Given the description of an element on the screen output the (x, y) to click on. 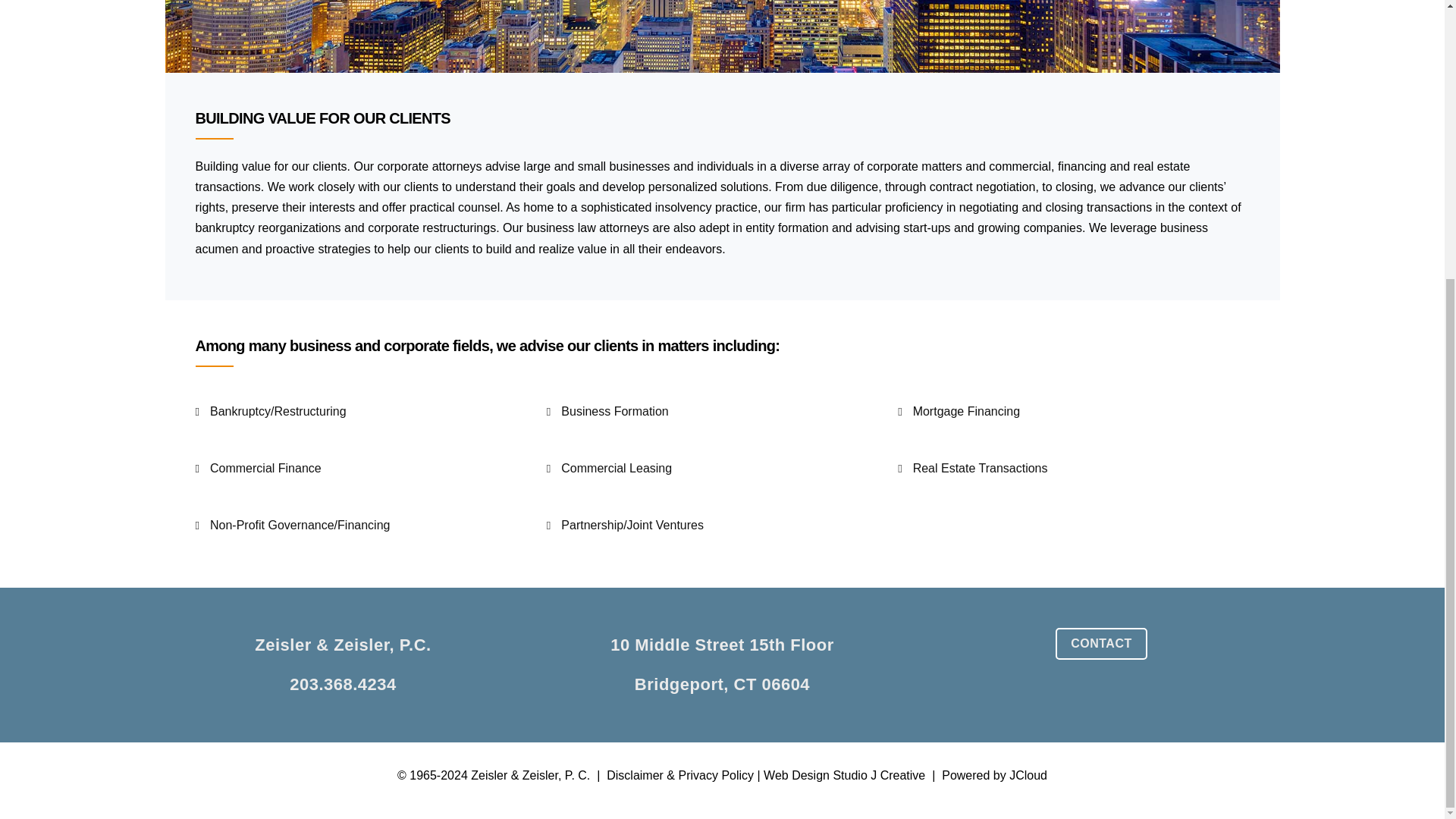
JCloud (1027, 775)
Studio J Creative (878, 775)
CONTACT (1101, 644)
203.368.4234 (722, 664)
